Given the description of an element on the screen output the (x, y) to click on. 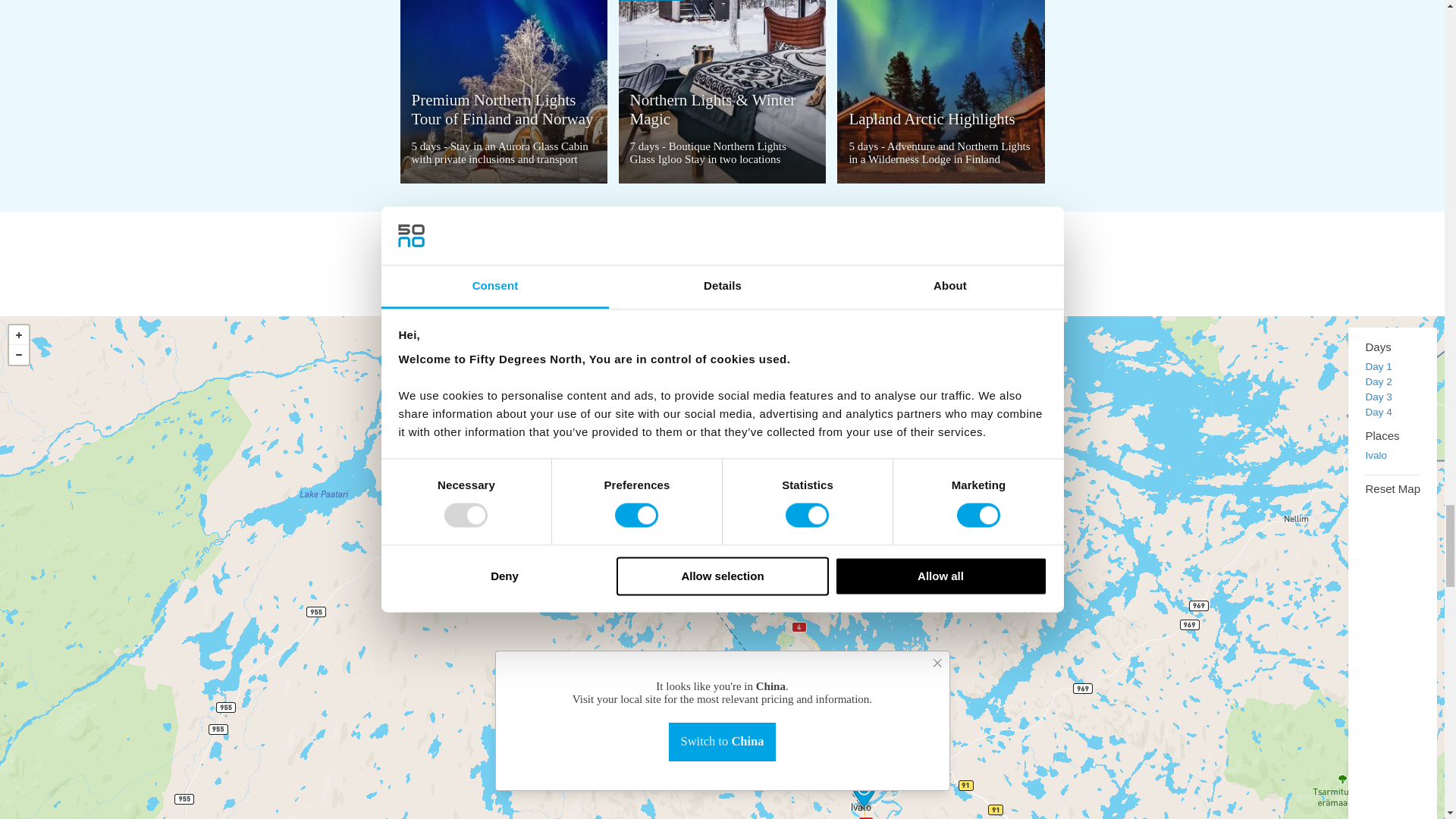
Zoom out (18, 354)
Zoom in (18, 334)
